Given the description of an element on the screen output the (x, y) to click on. 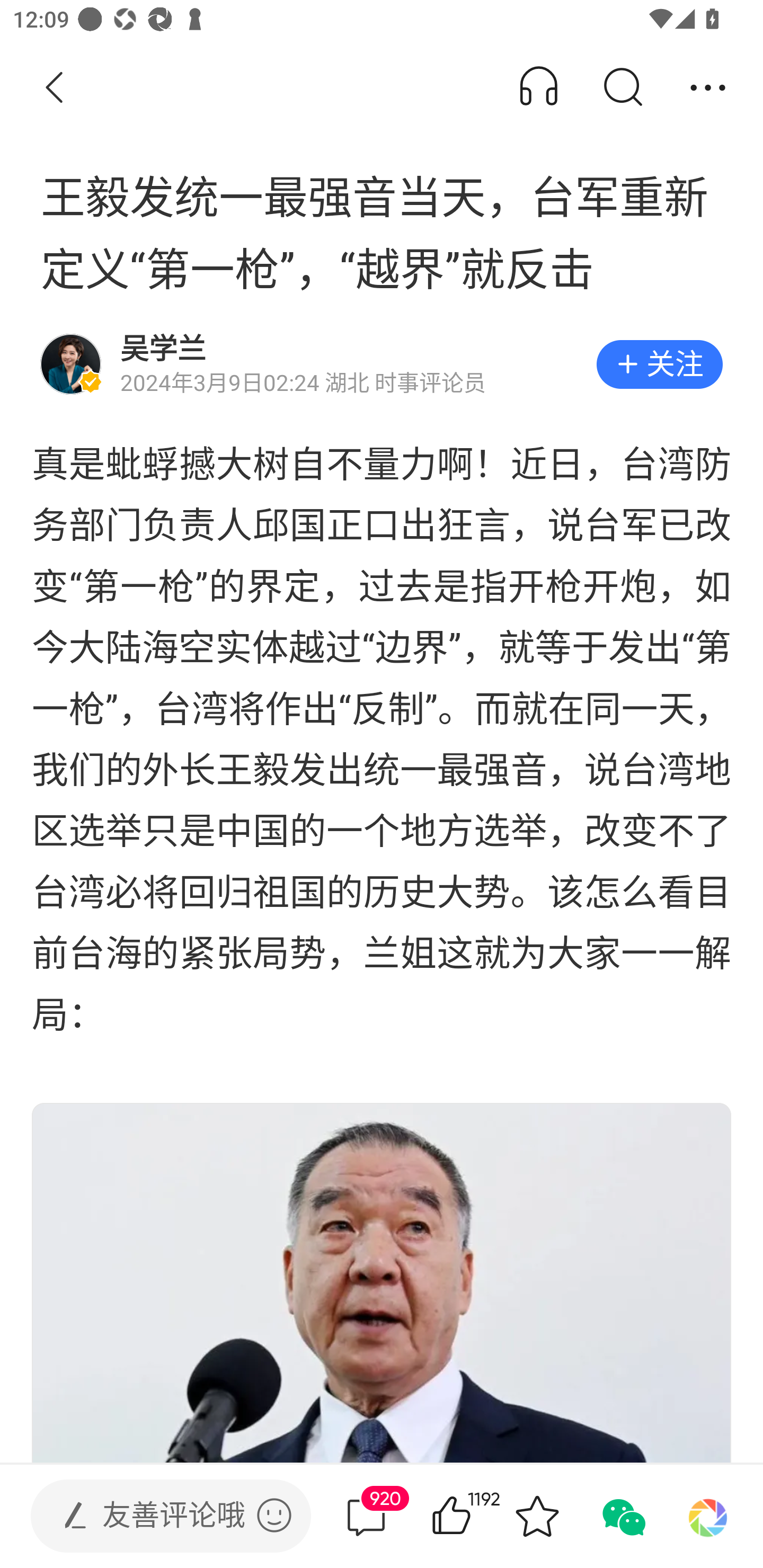
搜索  (622, 87)
分享  (707, 87)
 返回 (54, 87)
吴学兰 2024年3月9日02:24 湖北 时事评论员  关注 (381, 364)
 关注 (659, 364)
新闻图片 (381, 1282)
发表评论  友善评论哦 发表评论  (155, 1516)
920评论  920 评论 (365, 1516)
1192赞 (476, 1516)
收藏  (536, 1516)
分享到微信  (622, 1516)
分享到朋友圈 (707, 1516)
 (274, 1515)
